Given the description of an element on the screen output the (x, y) to click on. 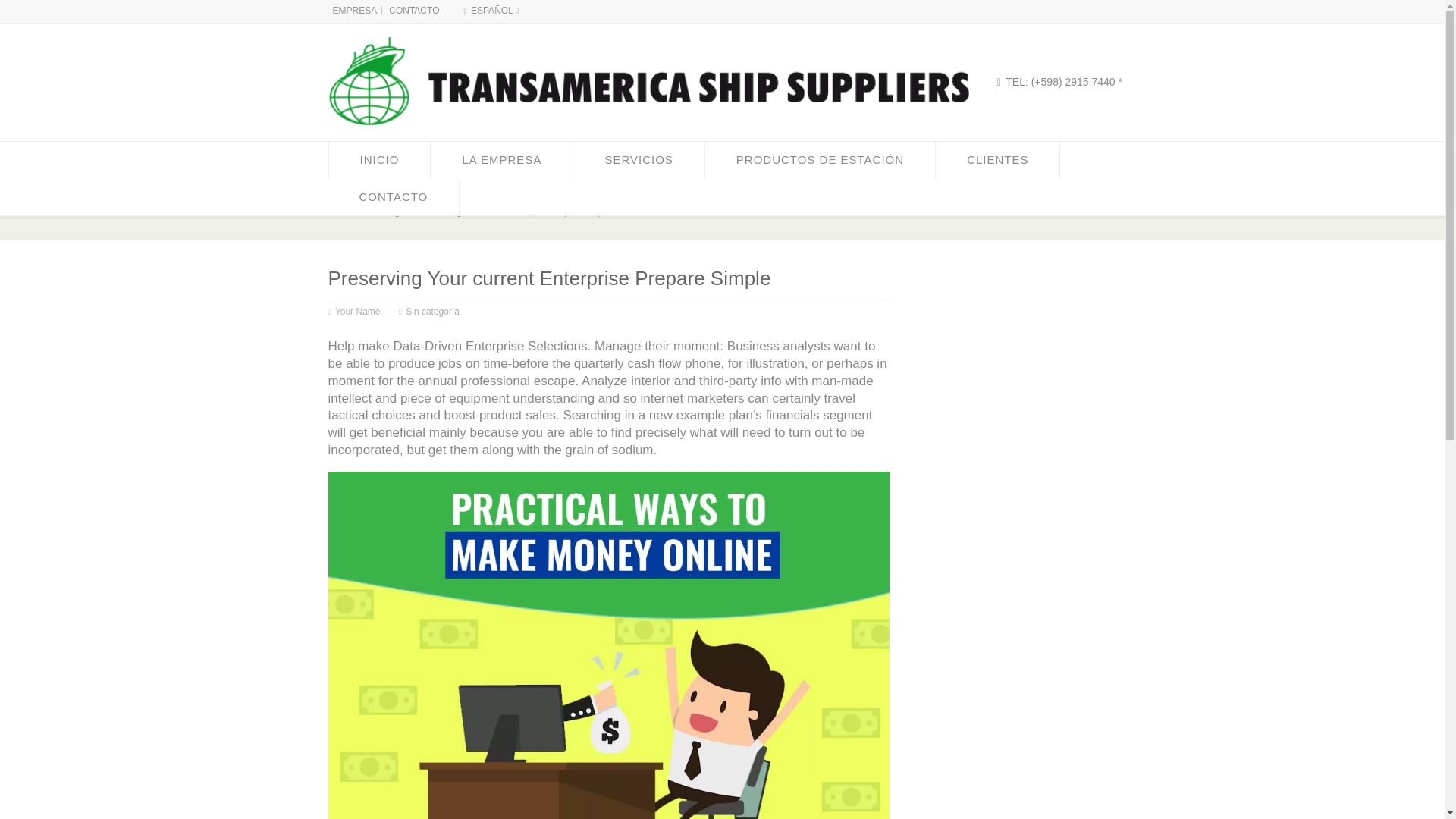
TRANSAMERICA SHIP SUPPLIERS (640, 138)
LA EMPRESA (501, 159)
TRANSAMERICA SHIP SUPPLIERS (345, 212)
Entradas de Your Name (357, 312)
Home (341, 212)
Preserving Your current Enterprise Prepare Simple (515, 212)
EMPRESA (354, 9)
Your Name (357, 312)
INICIO (379, 159)
SERVICIOS (638, 159)
CONTACTO (392, 197)
CLIENTES (997, 159)
CONTACTO (413, 9)
